Given the description of an element on the screen output the (x, y) to click on. 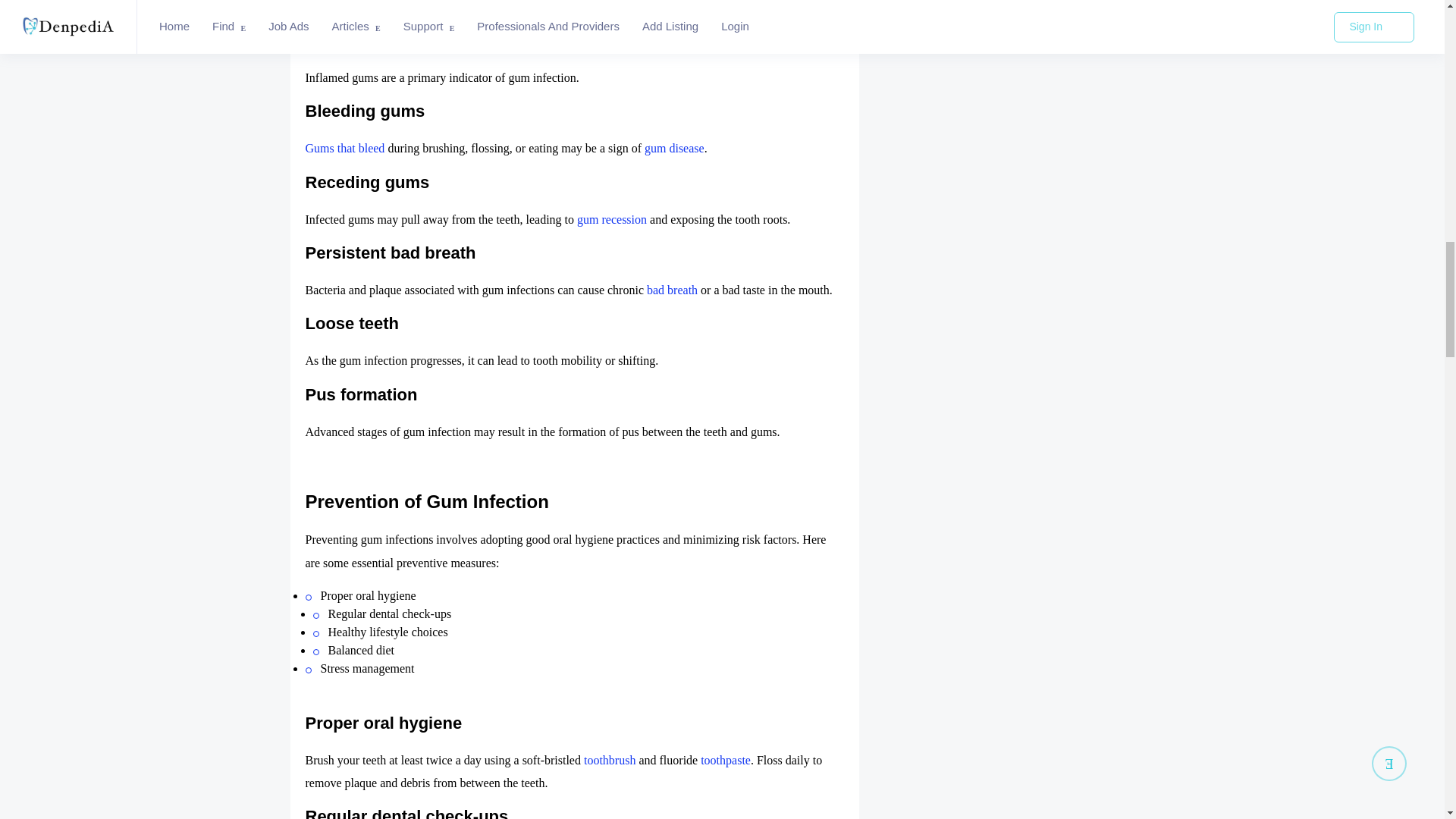
bad breath (671, 289)
toothbrush (608, 759)
gum recession (611, 219)
Gums that bleed (344, 147)
toothpaste (724, 759)
gum disease (674, 147)
